Given the description of an element on the screen output the (x, y) to click on. 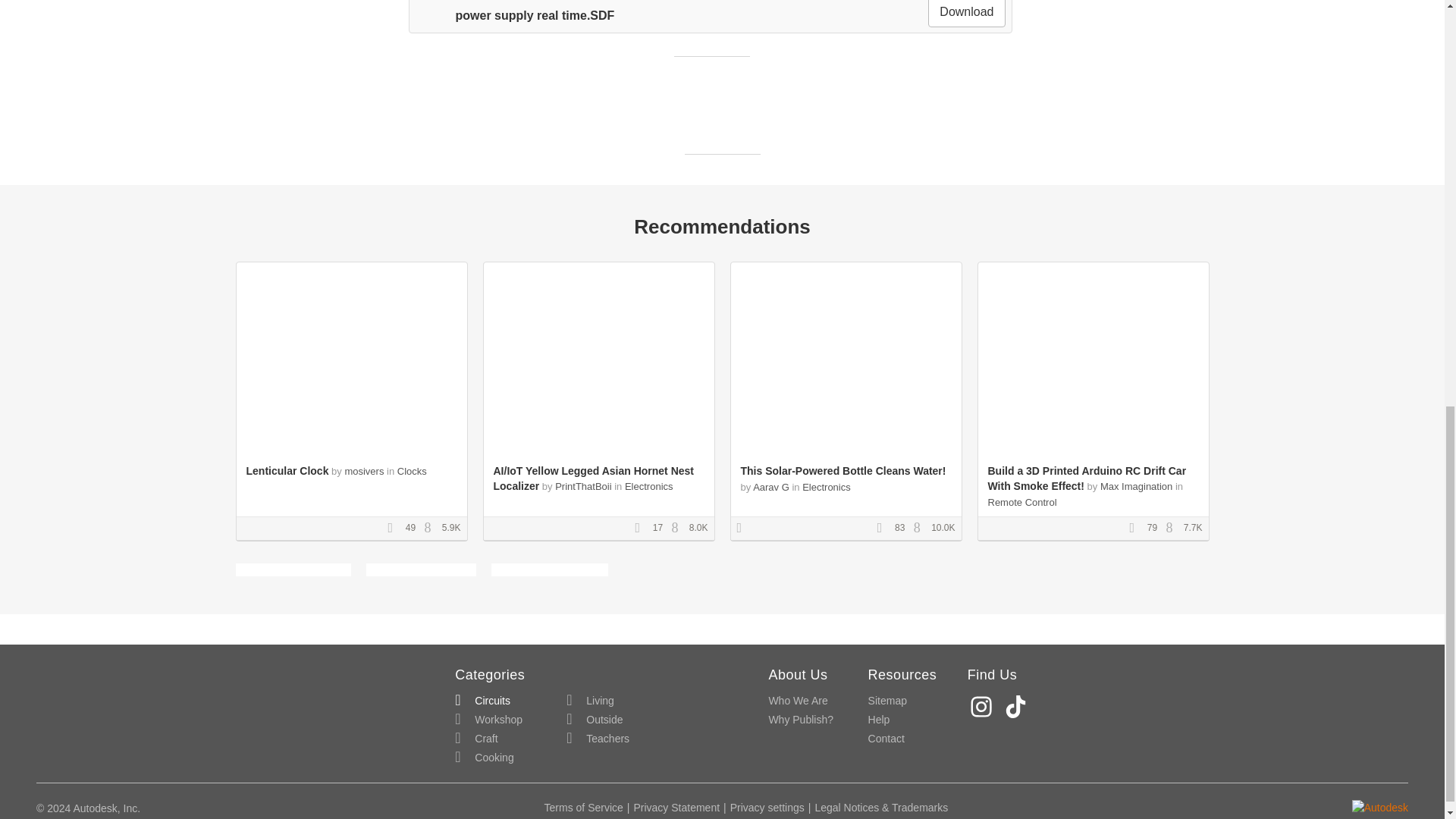
Views Count (1173, 528)
Max Imagination (1136, 486)
Favorites Count (1136, 528)
TikTok (1018, 706)
Lenticular Clock (287, 470)
Favorites Count (884, 528)
Contest Winner (744, 528)
power supply real time.SDF (513, 15)
Electronics (648, 486)
Aarav G (770, 487)
This Solar-Powered Bottle Cleans Water! (841, 470)
Views Count (431, 528)
Favorites Count (641, 528)
Electronics (826, 487)
Clocks (411, 471)
